Given the description of an element on the screen output the (x, y) to click on. 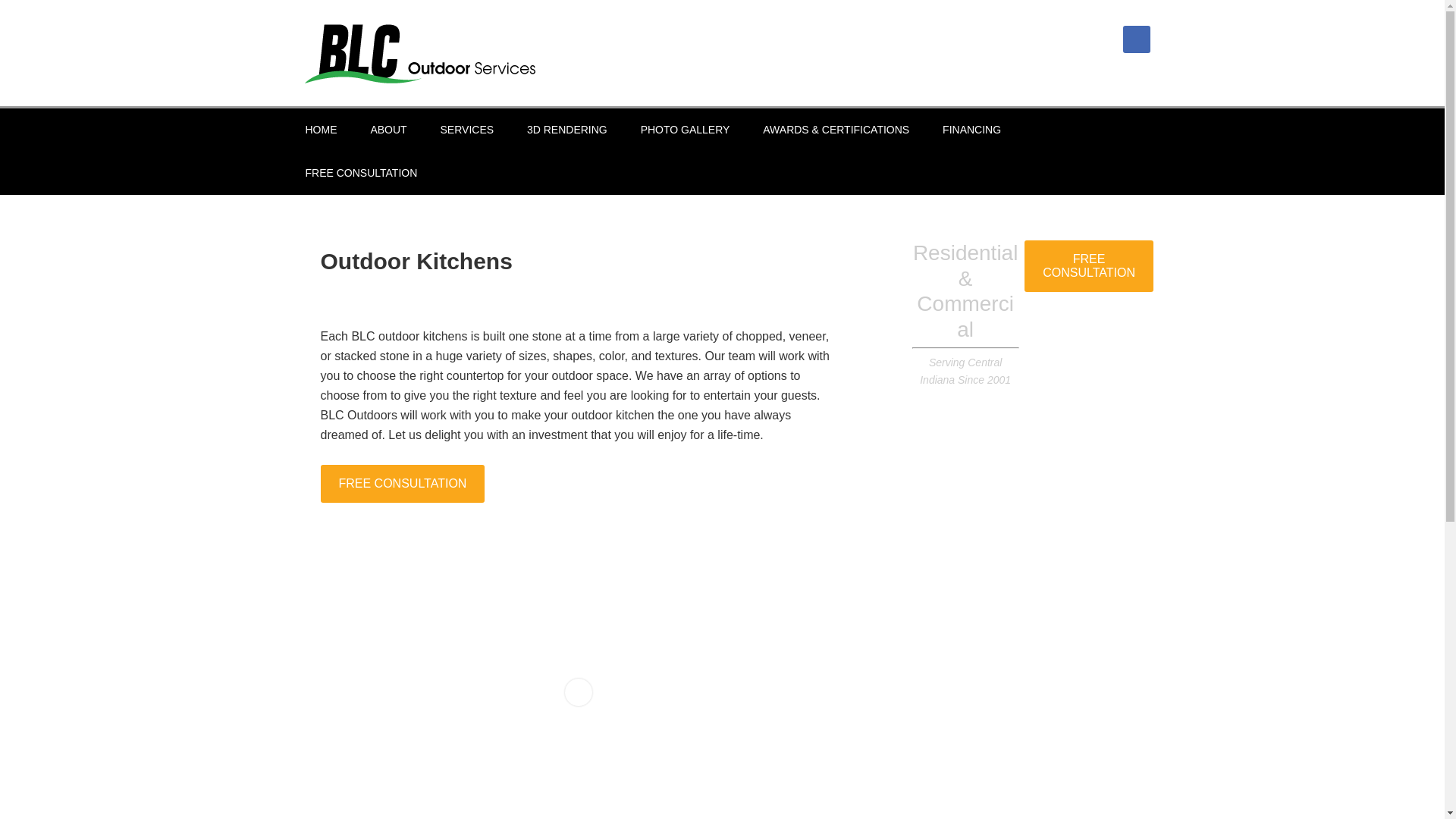
Facebook (1136, 39)
FREE CONSULTATION (402, 482)
FREE CONSULTATION (1089, 272)
BLC OUTDOORS (418, 52)
FREE CONSULTATION (1089, 265)
HOME (320, 129)
Facebook (1135, 38)
3D RENDERING (567, 129)
ABOUT (388, 129)
FREE CONSULTATION (360, 172)
